Given the description of an element on the screen output the (x, y) to click on. 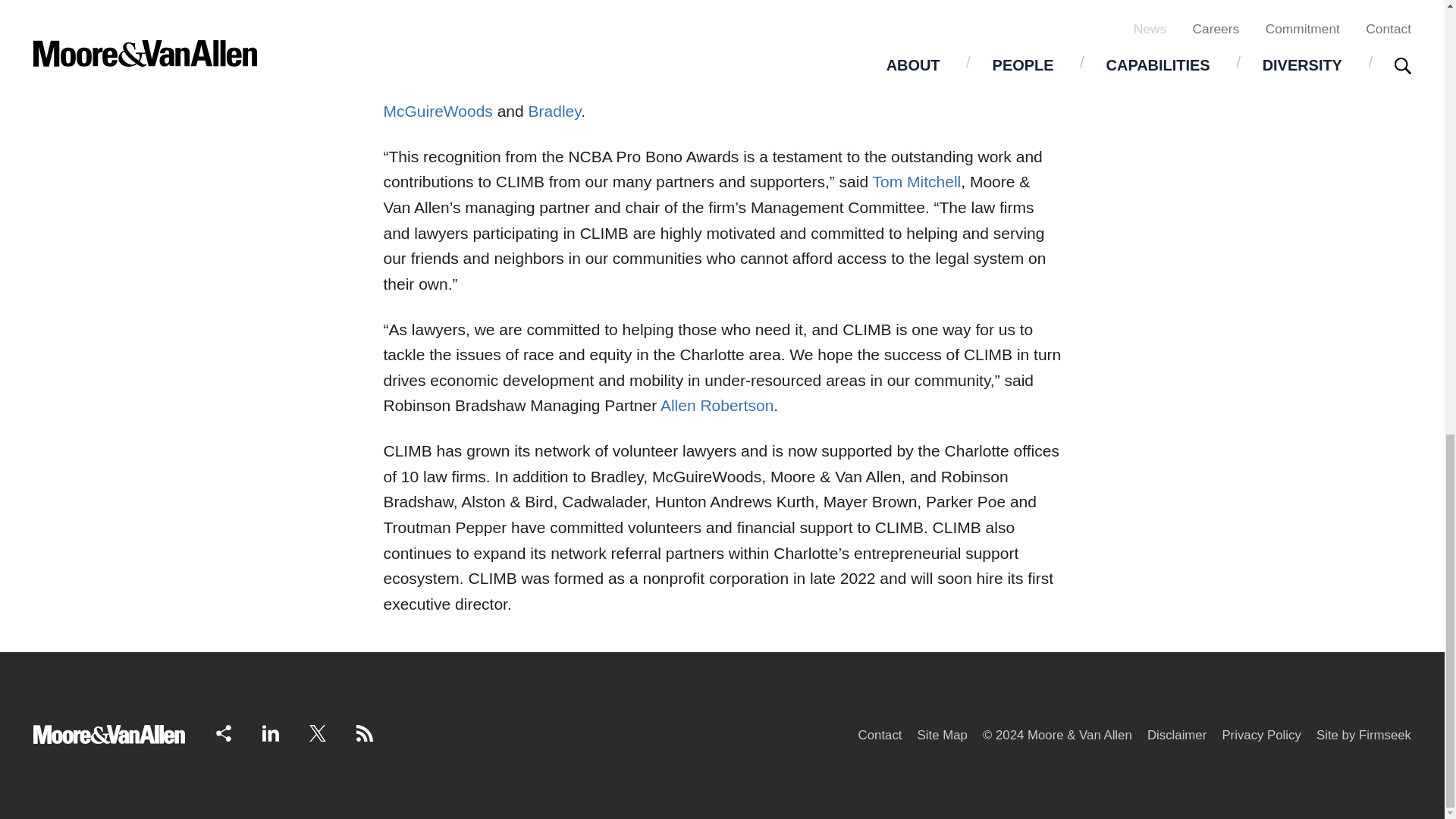
RSS (364, 733)
LinkedIn (270, 733)
Share (223, 733)
